Given the description of an element on the screen output the (x, y) to click on. 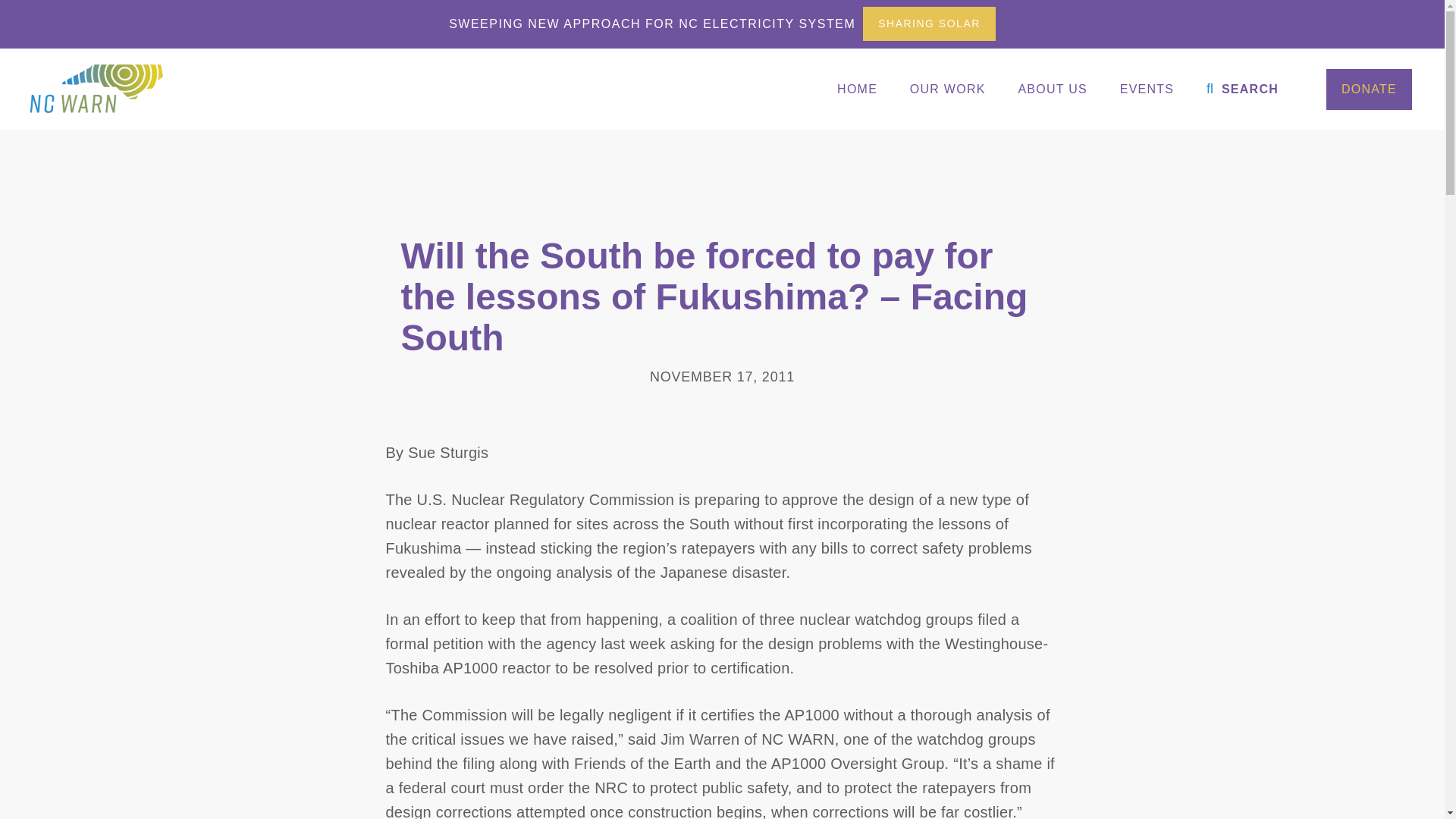
HOME (857, 89)
ABOUT US (1052, 89)
OUR WORK (948, 89)
SHARING SOLAR (929, 23)
DONATE (1368, 89)
EVENTS (1147, 89)
